Given the description of an element on the screen output the (x, y) to click on. 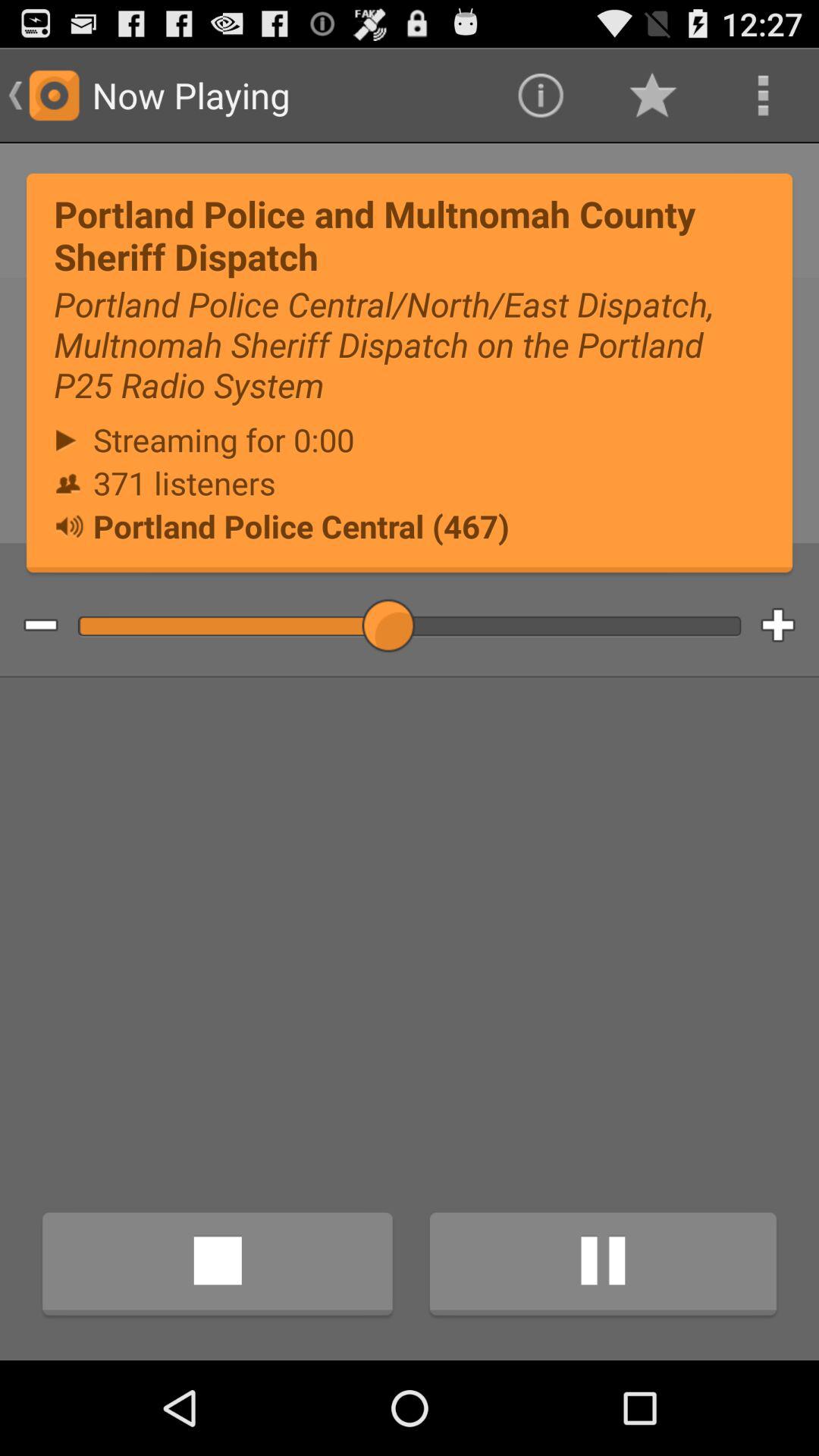
select the icon at the bottom right corner (603, 1266)
